Given the description of an element on the screen output the (x, y) to click on. 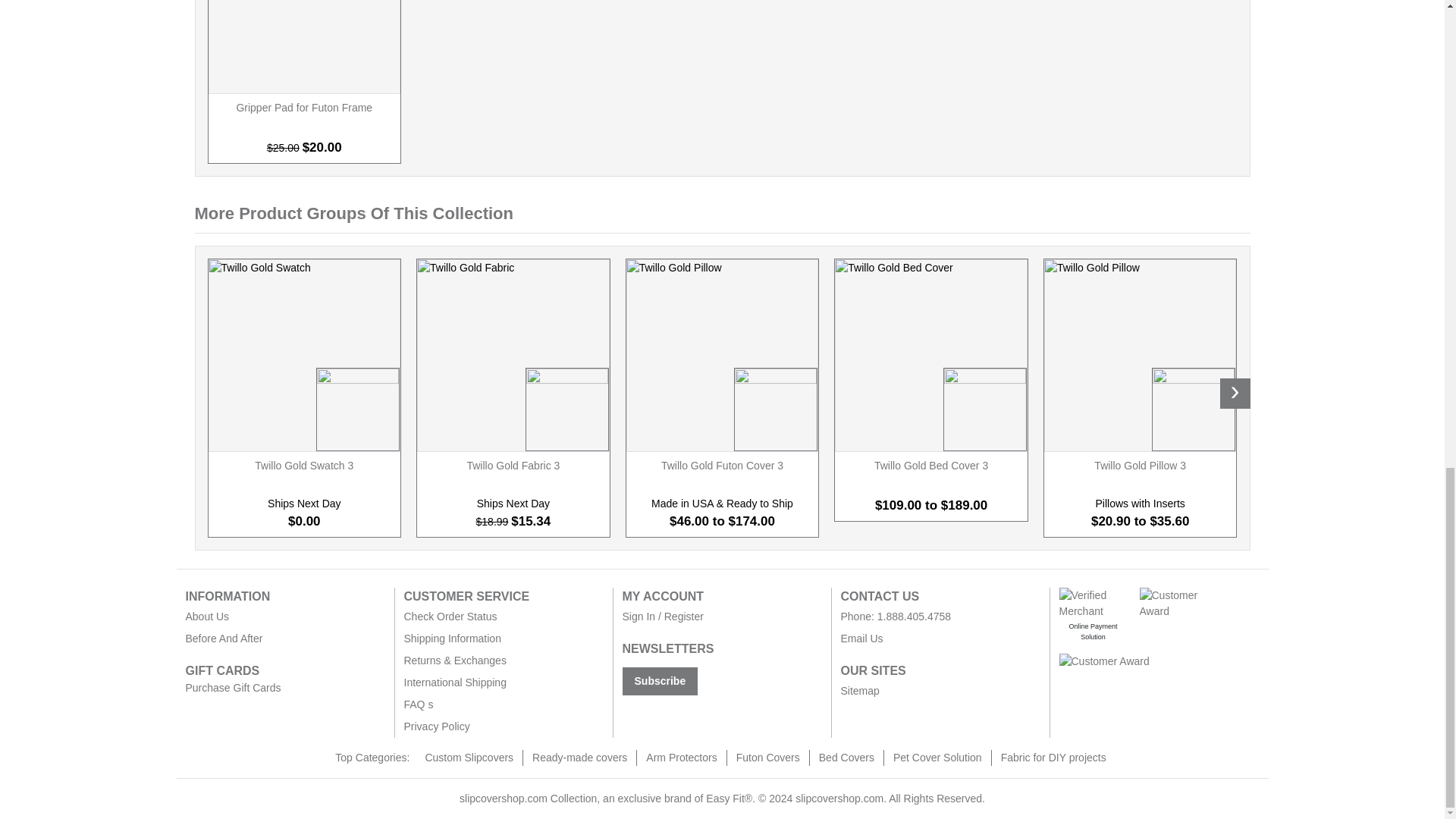
Show details for Twillo Gold Fabric 3 (512, 355)
Show details for Twillo Gold Swatch 3 (304, 355)
Show details for Twillo Gold Futon Cover 3 Full (722, 355)
Show details for Gripper Pad for Futon Frame (304, 46)
